Given the description of an element on the screen output the (x, y) to click on. 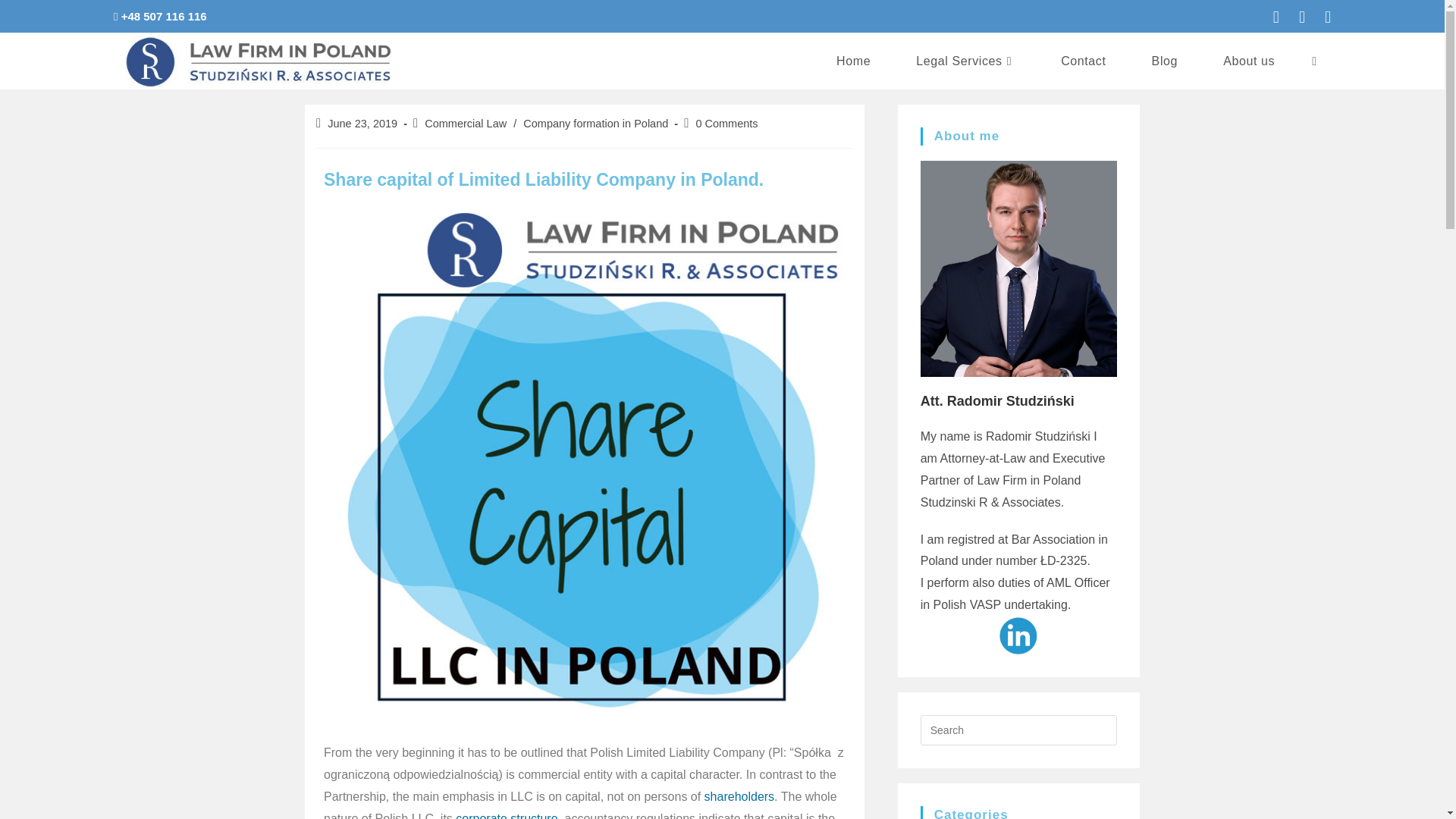
Blog (1165, 61)
About us (1248, 61)
Legal Services (965, 61)
Home (853, 61)
Contact (1083, 61)
